Given the description of an element on the screen output the (x, y) to click on. 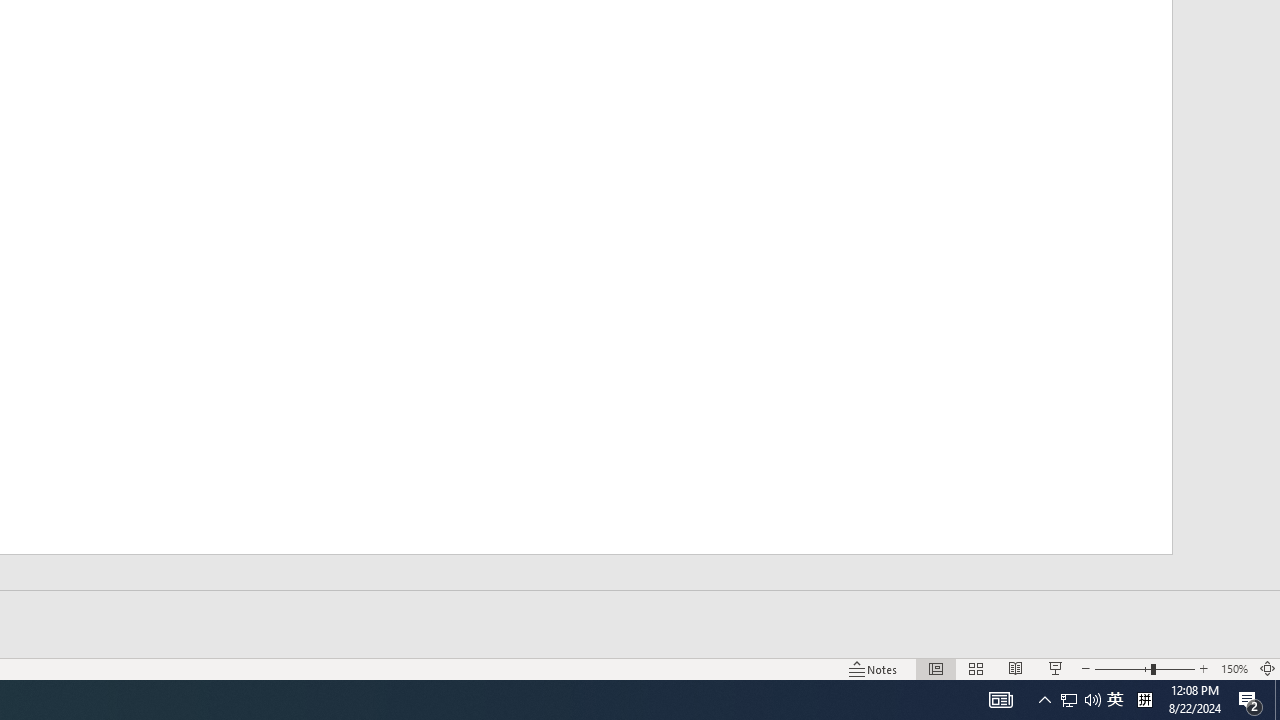
Zoom 150% (1234, 668)
